Given the description of an element on the screen output the (x, y) to click on. 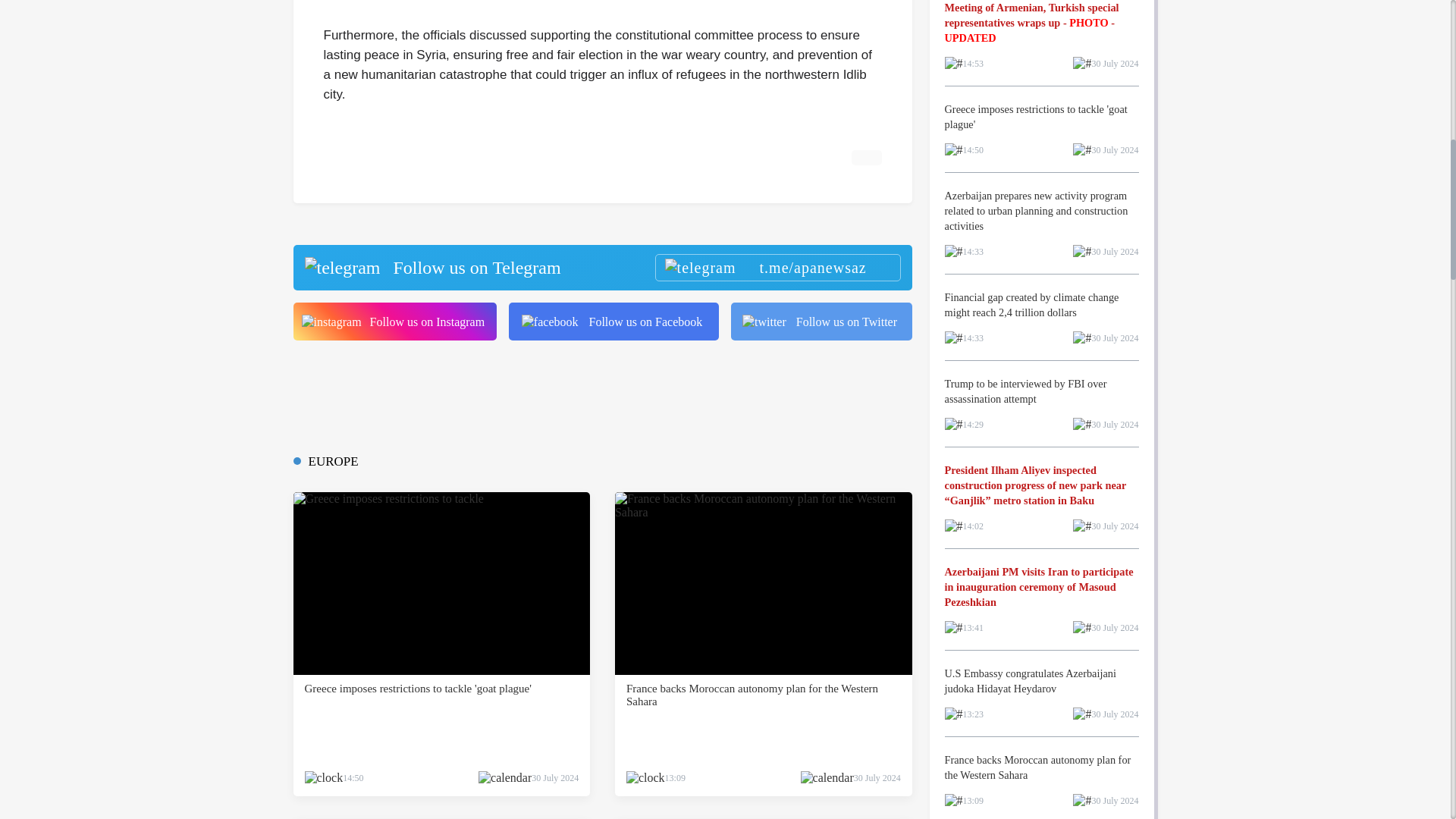
Follow us on Instagram (394, 321)
Follow us on Facebook (613, 321)
Follow us on Telegram (601, 267)
Follow us on Twitter (821, 321)
